Given the description of an element on the screen output the (x, y) to click on. 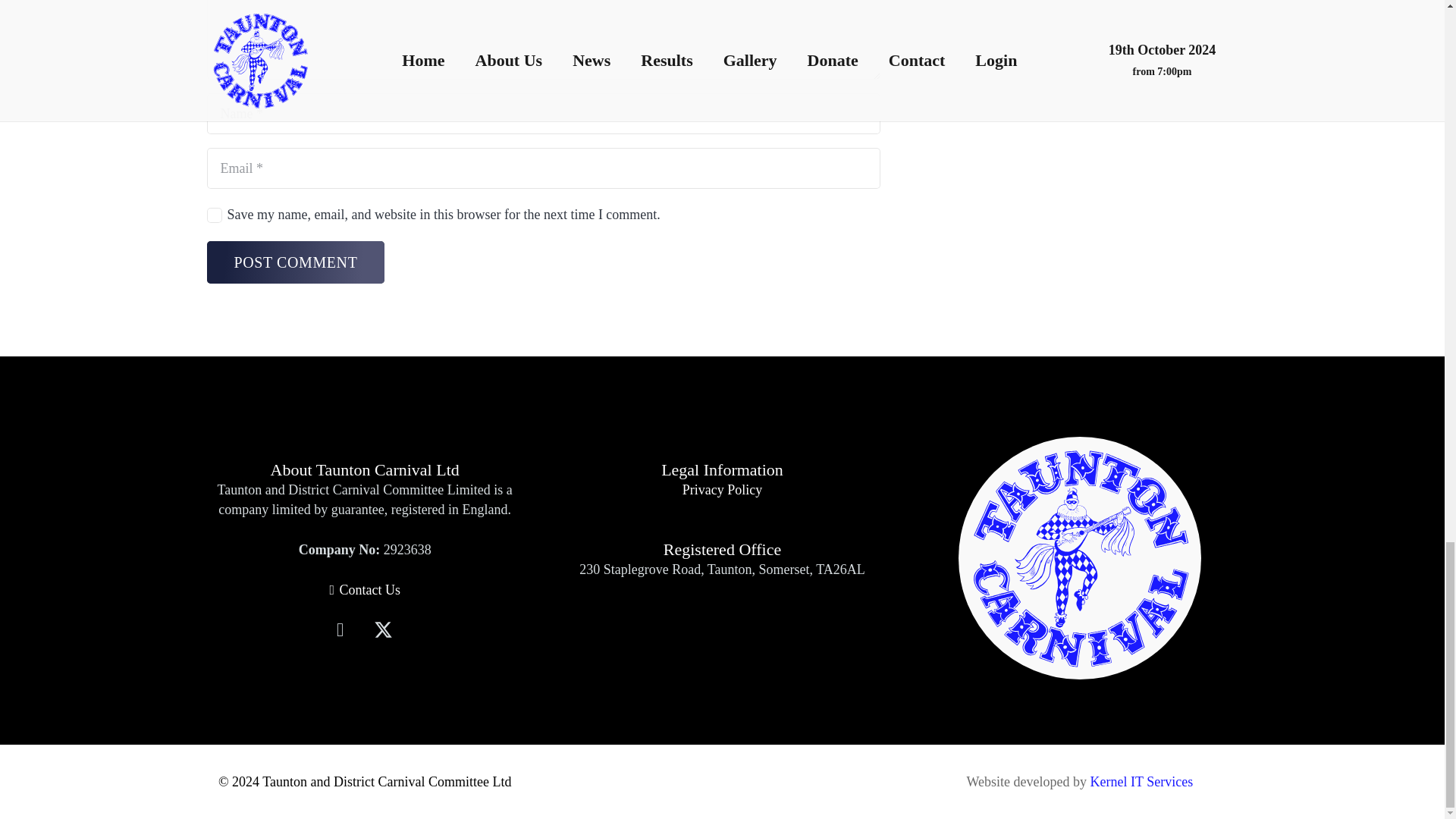
POST COMMENT (295, 261)
1 (213, 215)
Privacy Policy (722, 489)
Contact Us (364, 589)
Kernel IT Services (1141, 781)
